Given the description of an element on the screen output the (x, y) to click on. 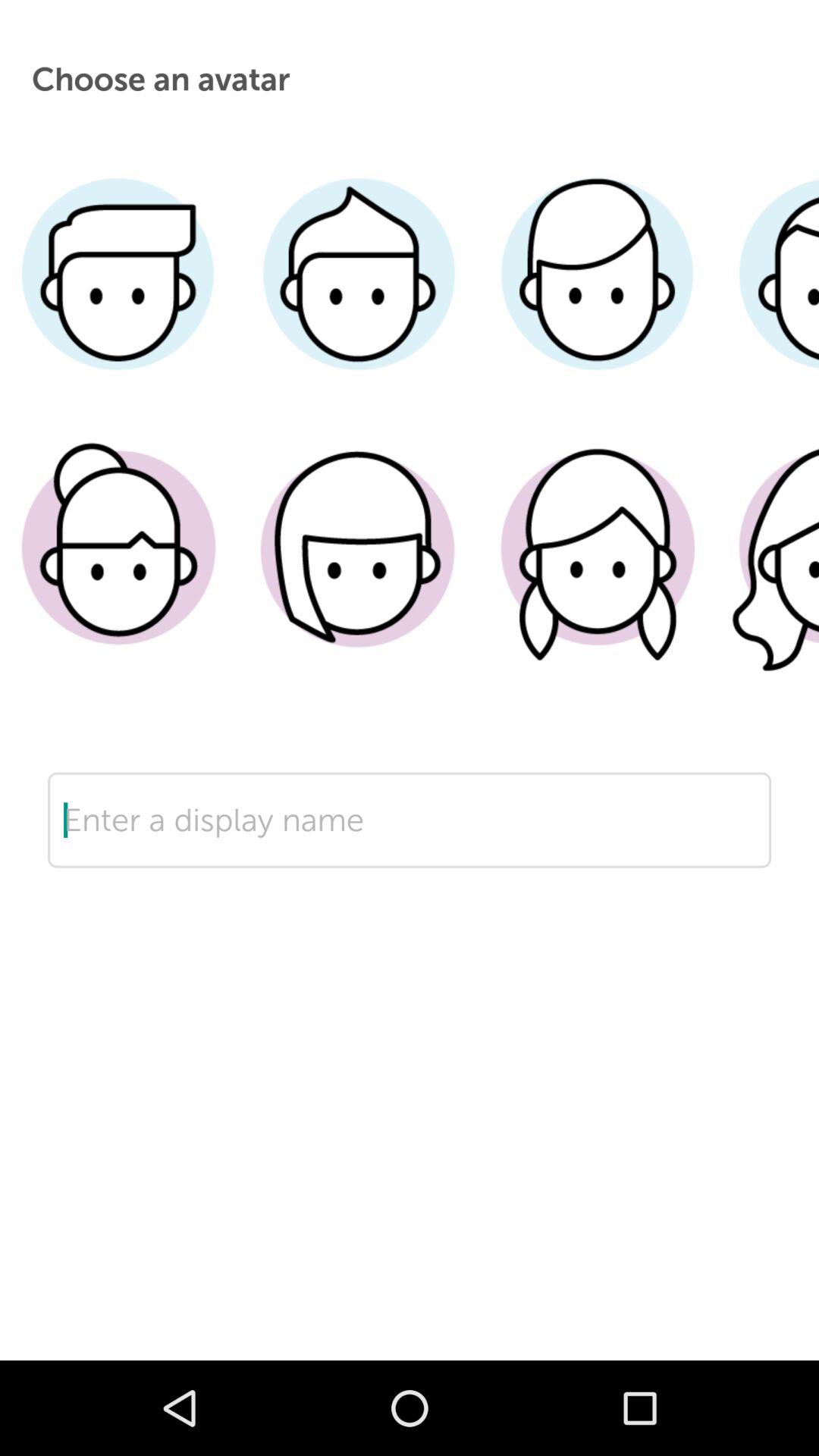
choose avatar (767, 296)
